Given the description of an element on the screen output the (x, y) to click on. 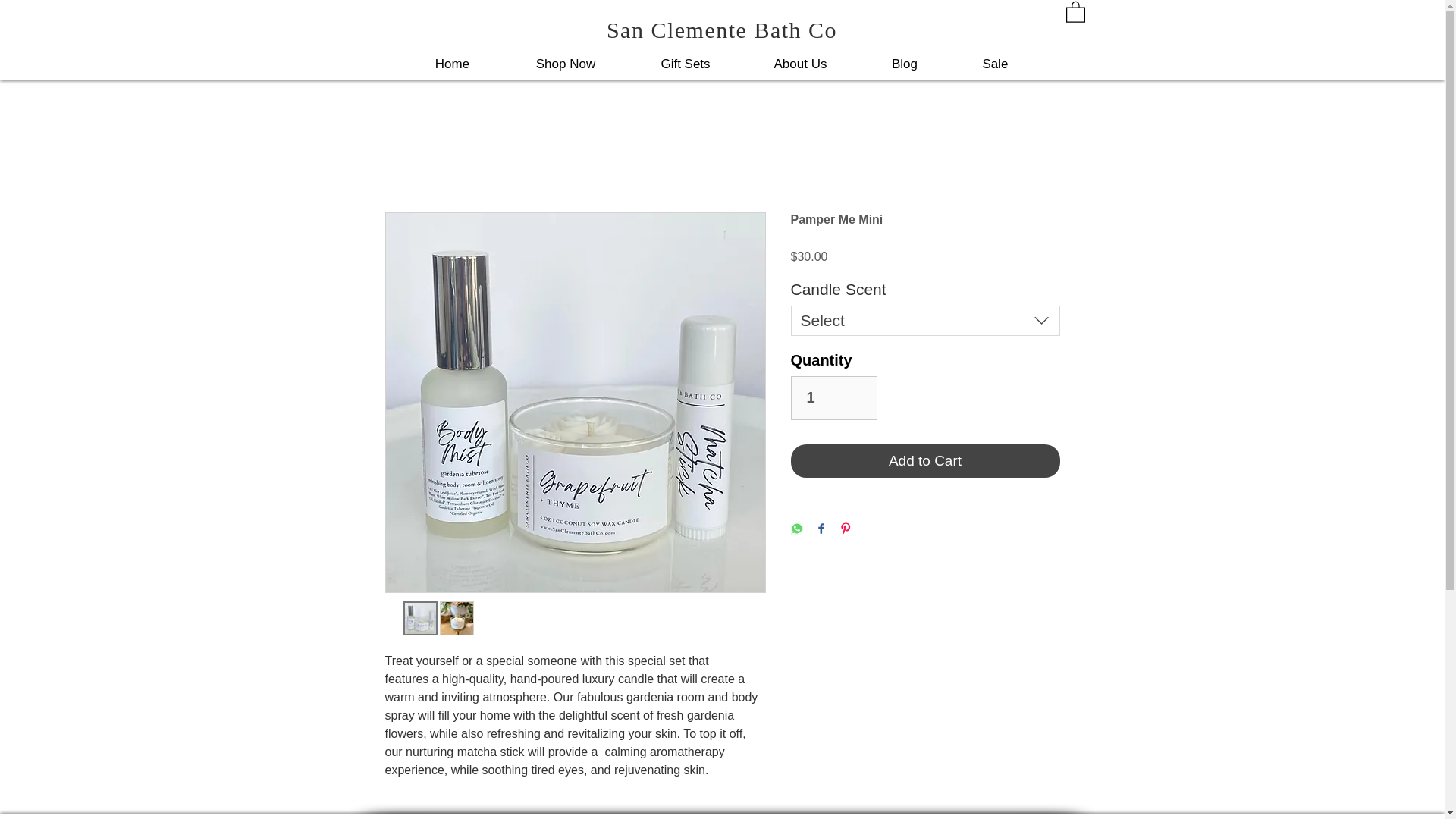
Shop Now (565, 64)
San Clemente Bath Co (722, 29)
Gift Sets (684, 64)
Add to Cart (924, 461)
Sale (994, 64)
About Us (800, 64)
Home (452, 64)
Select (924, 320)
1 (833, 397)
Blog (904, 64)
